Given the description of an element on the screen output the (x, y) to click on. 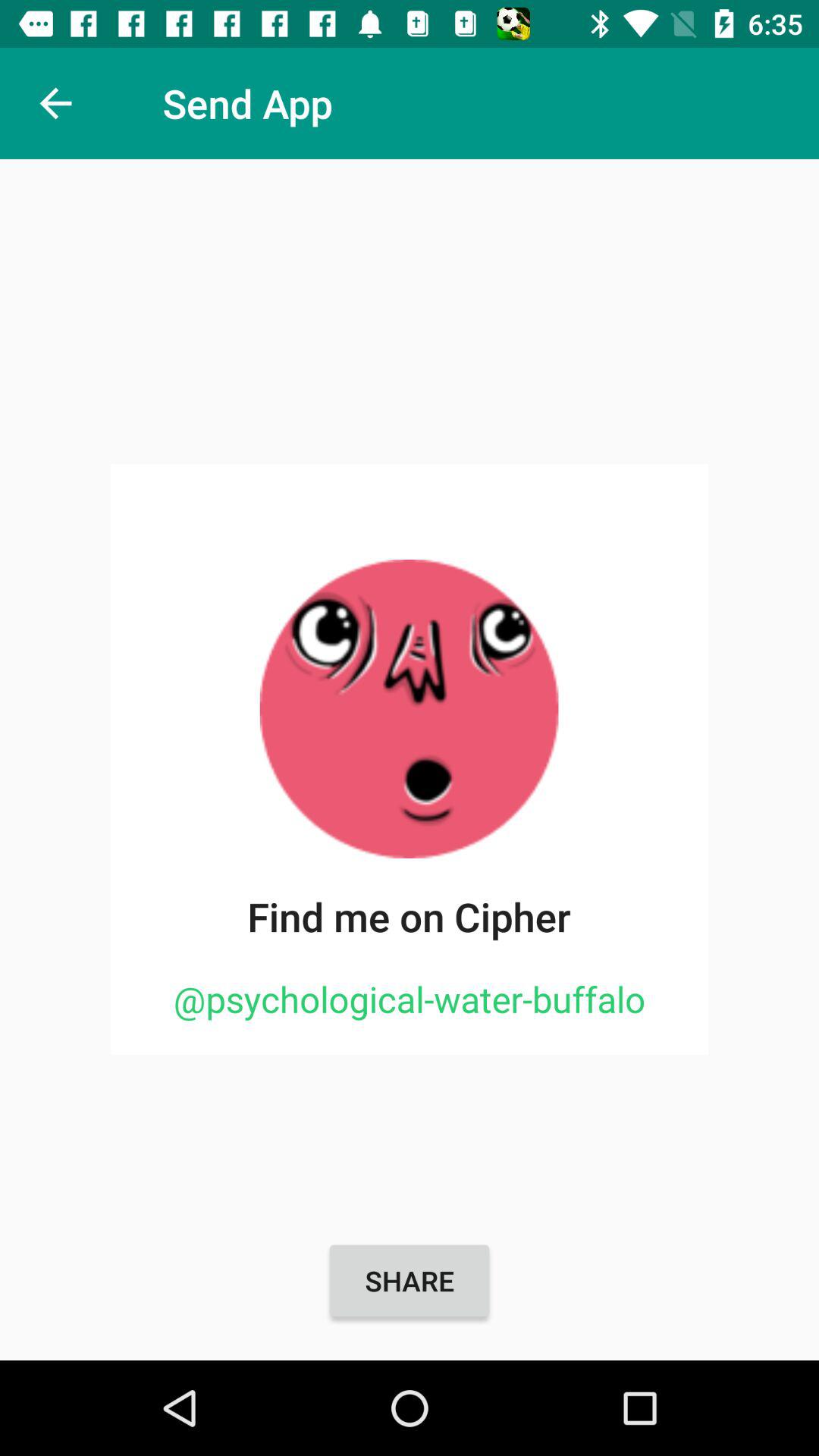
launch item to the left of the   send app (55, 103)
